Given the description of an element on the screen output the (x, y) to click on. 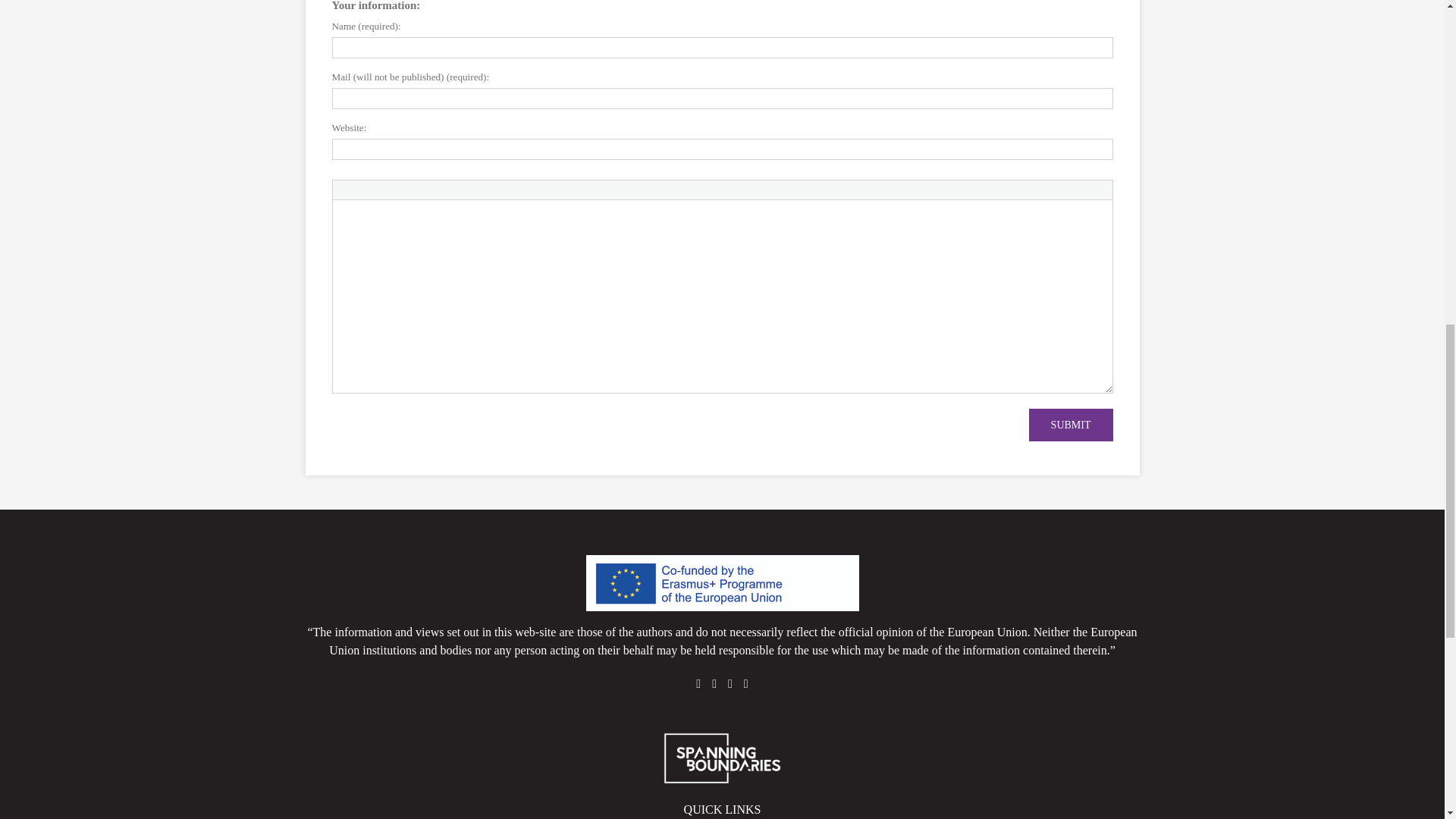
SUBMIT (1071, 424)
